Given the description of an element on the screen output the (x, y) to click on. 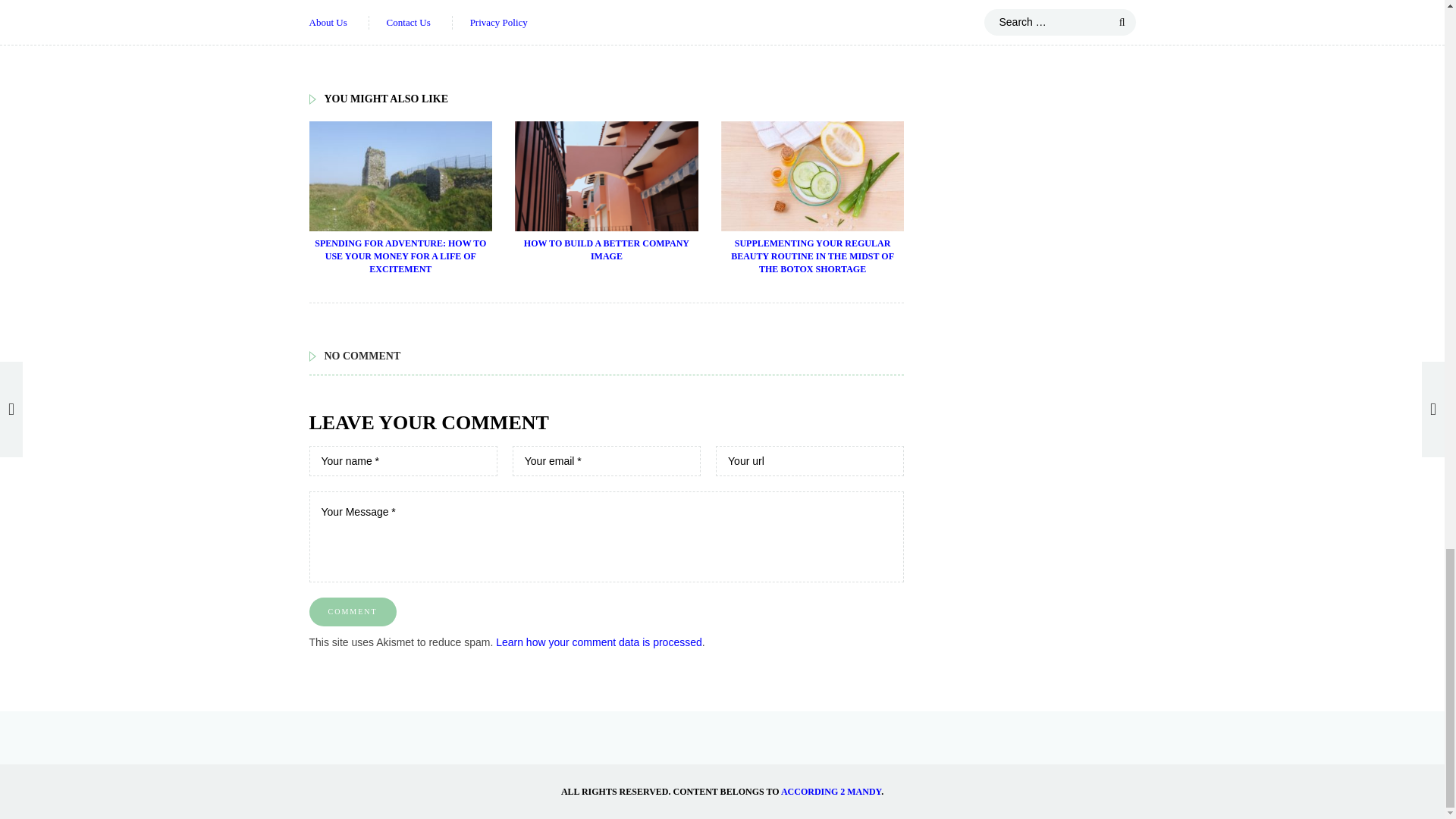
Comment (352, 611)
Facebook (520, 8)
Share to Twitter (538, 9)
Share to Reddit (597, 9)
Share to Facebook (520, 9)
HOW TO BUILD A BETTER COMPANY IMAGE (606, 249)
Share to Digg (578, 9)
Twitter (539, 8)
Share to Google Plus (559, 9)
